Given the description of an element on the screen output the (x, y) to click on. 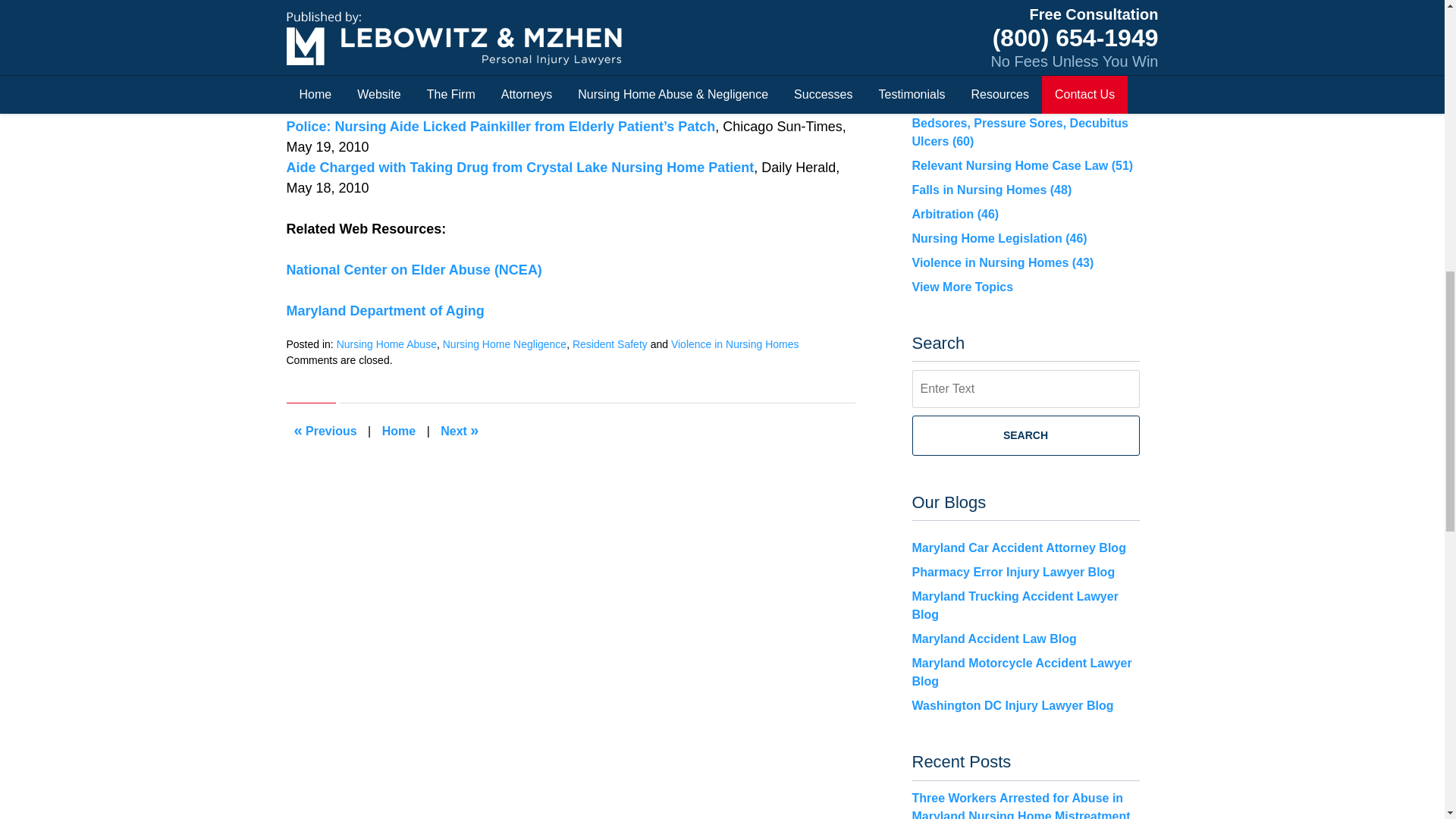
Program Aims to Reduce Falls in Maryland Nursing Homes (325, 430)
Nursing Home Negligence (504, 344)
View all posts in Nursing Home Abuse (386, 344)
Lebowitz and Mzhen (502, 85)
CDC Guide to Nursing Home Fall Prevention (459, 430)
Nursing Home Abuse (386, 344)
Home (398, 430)
Violence in Nursing Homes (735, 344)
Maryland Department of Aging (385, 310)
Resident Safety (609, 344)
View all posts in Nursing Home Negligence (504, 344)
View all posts in Resident Safety (609, 344)
View all posts in Violence in Nursing Homes (735, 344)
personal injury (564, 34)
